Given the description of an element on the screen output the (x, y) to click on. 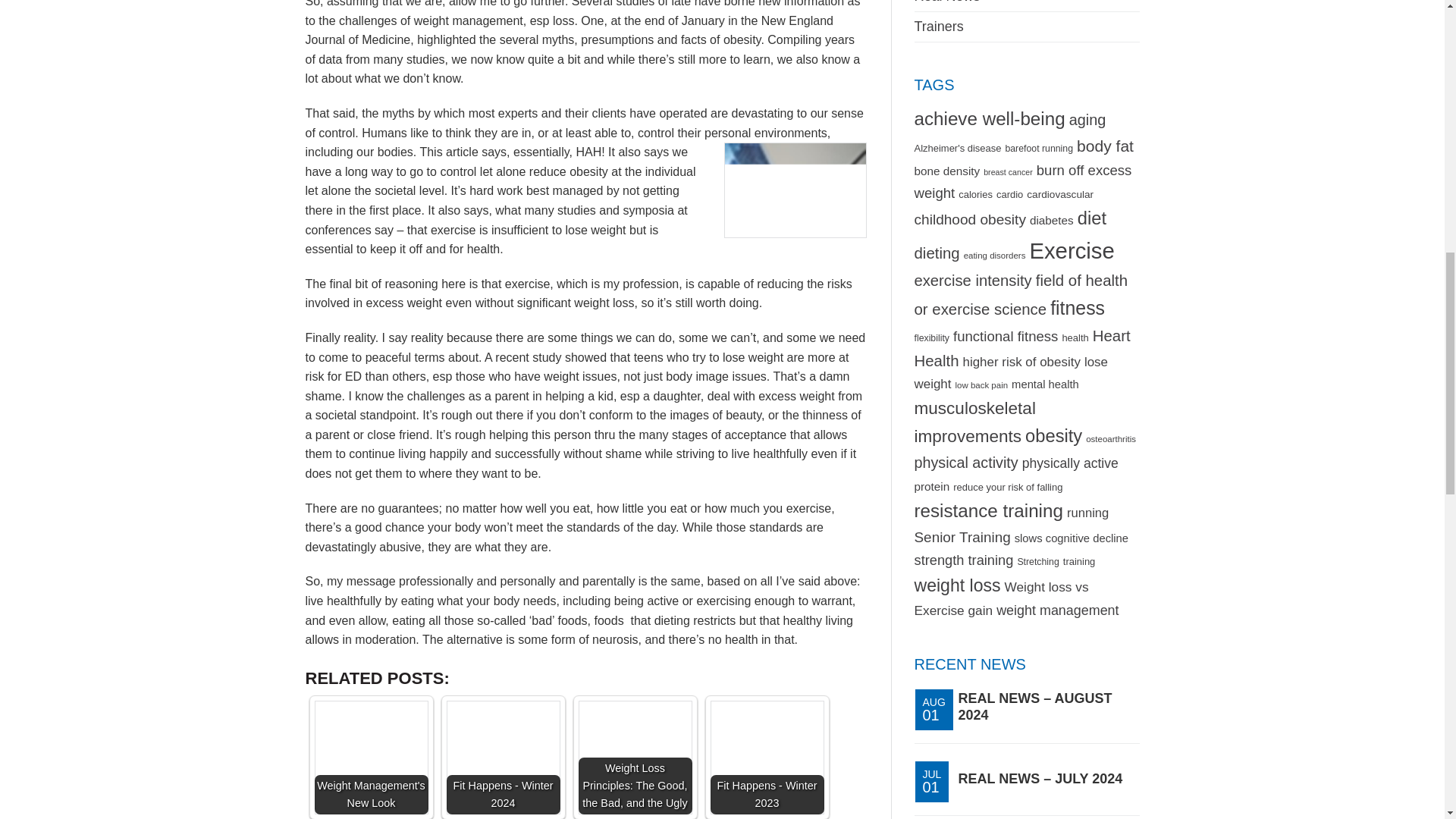
Fit Happens - Winter 2023 (767, 757)
Weight Management's New Look (371, 757)
Weight Loss Principles: The Good, the Bad, and the Ugly (634, 757)
Fit Happens - Winter 2024 (502, 757)
Fit Happens - Winter 2024 (502, 757)
Fit Happens - Winter 2023 (767, 757)
Weight Management's New Look (371, 757)
Weight Loss Principles:  The Good, the Bad, and the Ugly (634, 757)
